Given the description of an element on the screen output the (x, y) to click on. 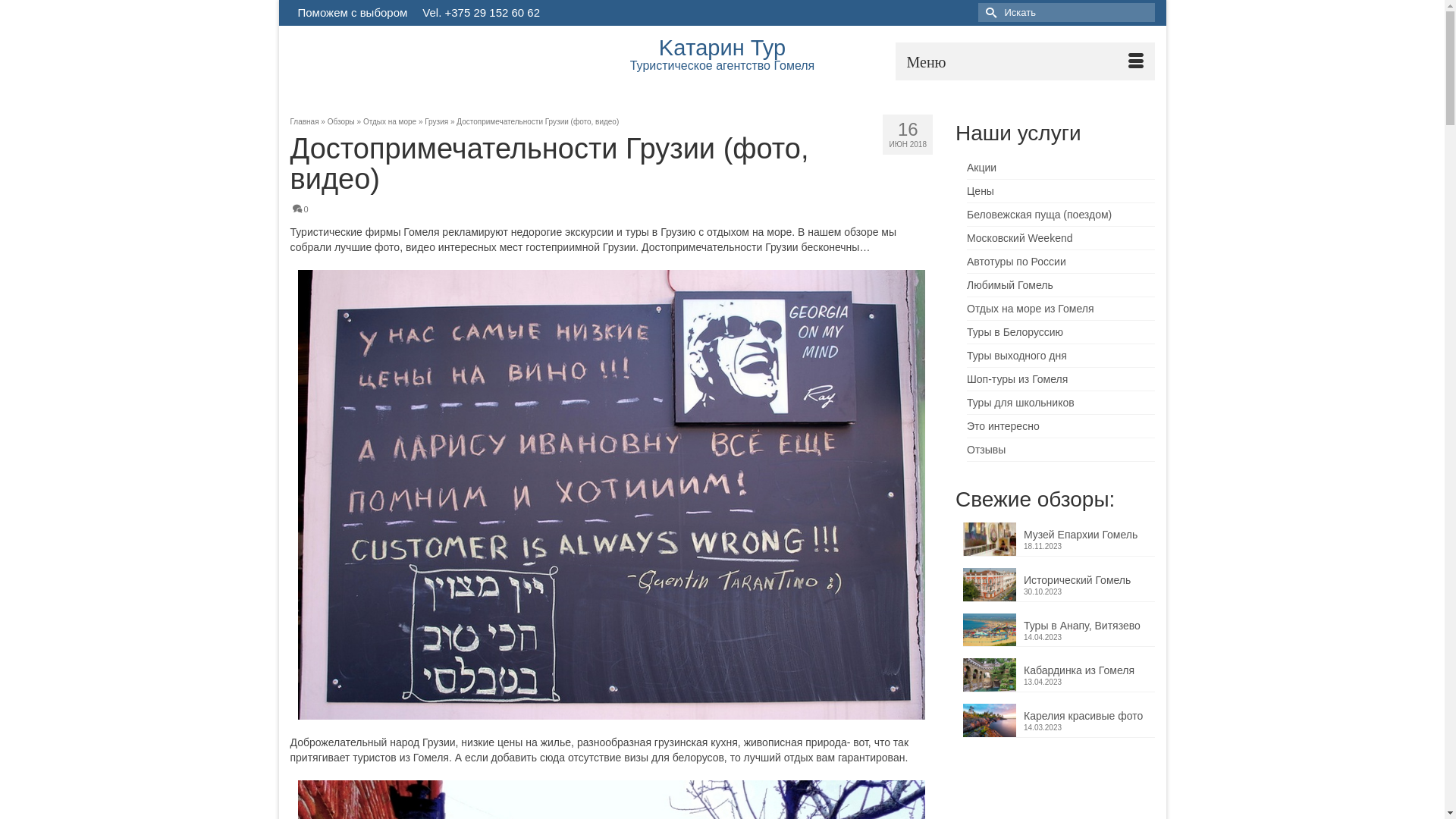
Vel. +375 29 152 60 62 Element type: text (480, 12)
0 Element type: text (300, 208)
